Given the description of an element on the screen output the (x, y) to click on. 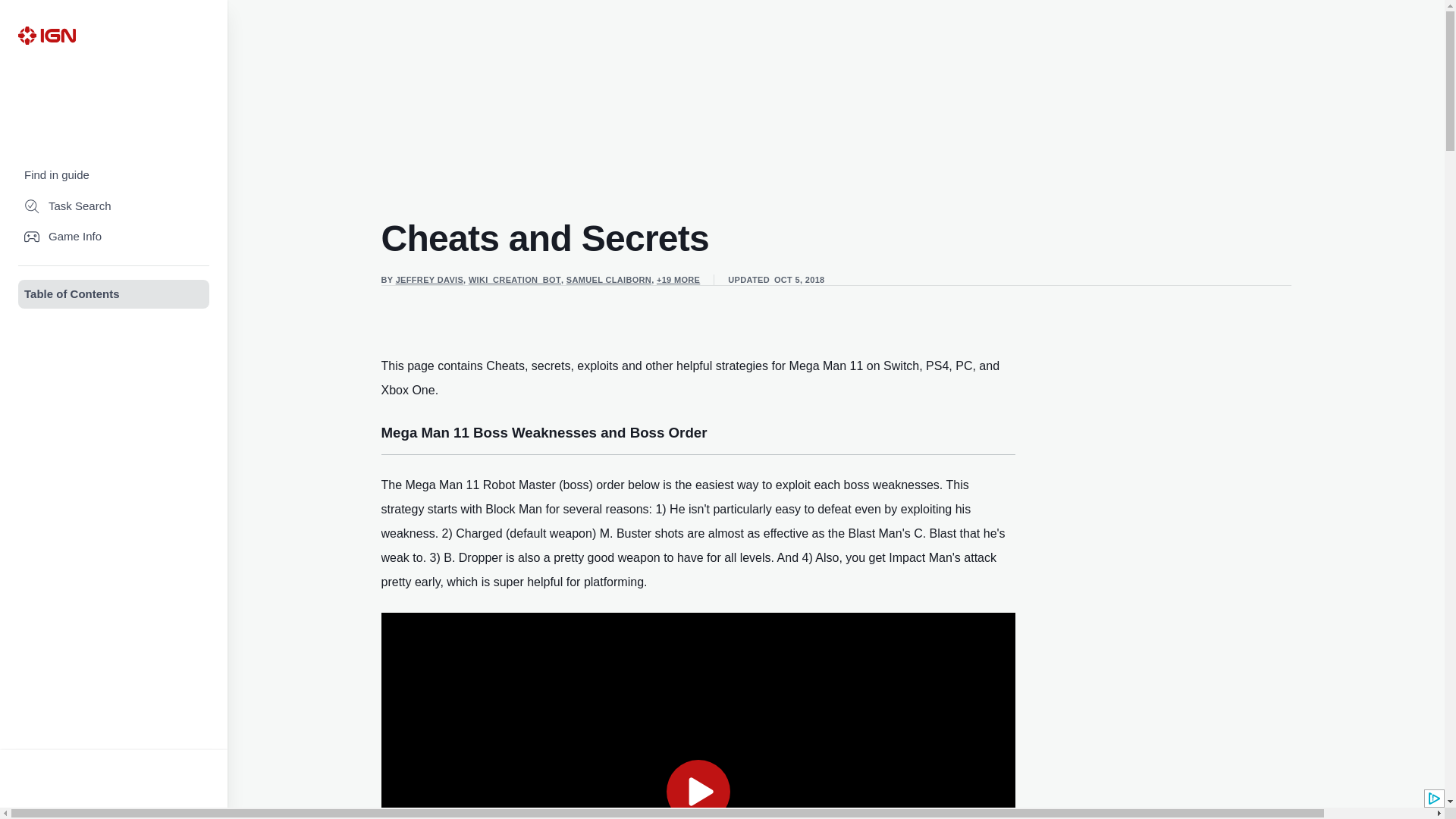
Game Info (113, 236)
JEFFREY DAVIS (429, 279)
IGN Logo (46, 34)
Find in guide (113, 175)
Game Info (113, 236)
Task Search (113, 206)
Table of Contents (113, 294)
Task Search (113, 206)
IGN Logo (46, 35)
SAMUEL CLAIBORN (608, 279)
Table of Contents (113, 294)
IGN (46, 35)
Find in guide (113, 175)
